Given the description of an element on the screen output the (x, y) to click on. 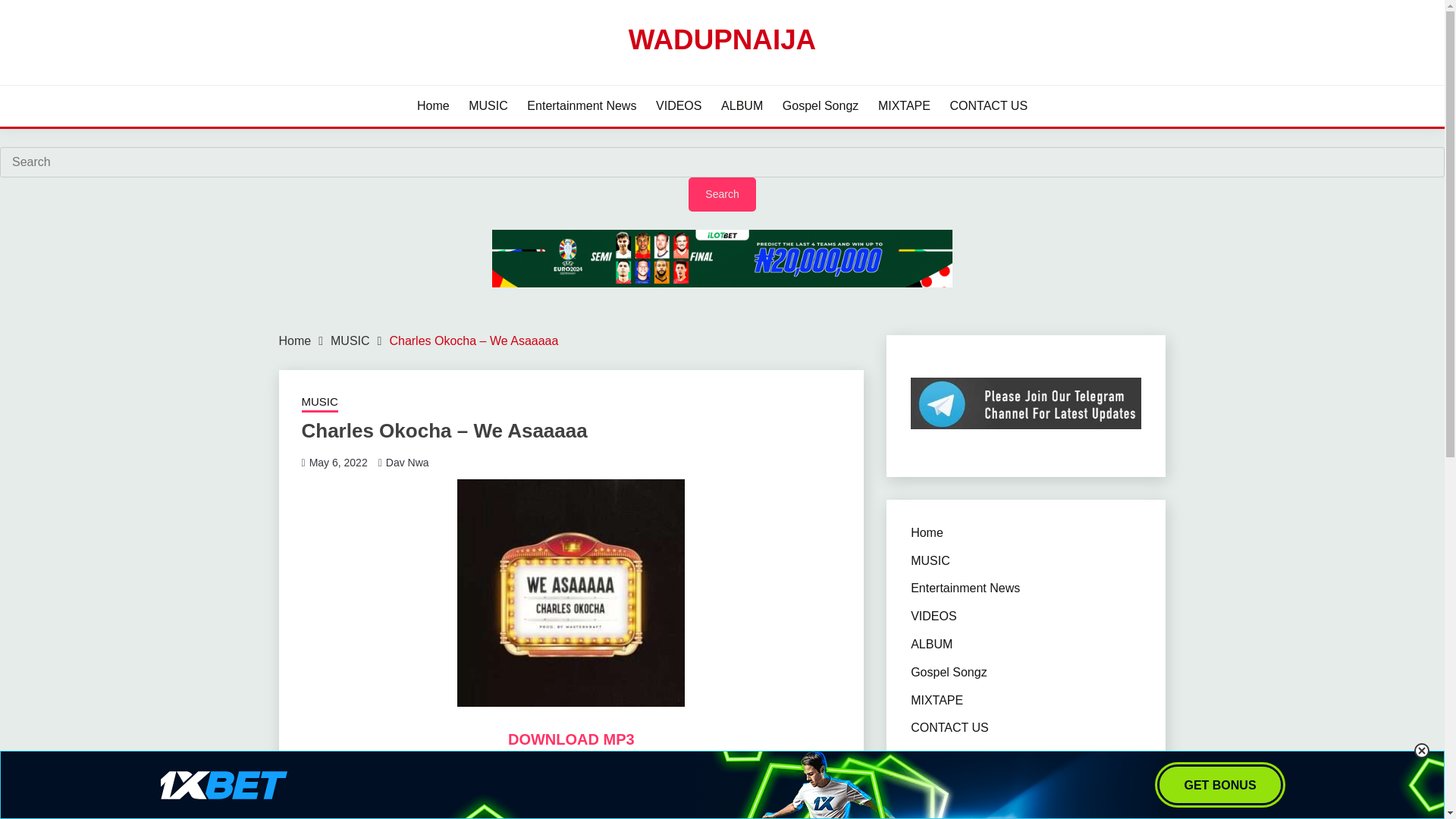
DOWNLOAD MP3 (571, 739)
ALBUM (741, 106)
Search (721, 194)
MIXTAPE (903, 106)
MUSIC (488, 106)
MIXTAPE (936, 699)
MUSIC (349, 340)
WADUPNAIJA (721, 39)
Gospel Songz (949, 671)
Home (295, 340)
MUSIC (319, 403)
Dav Nwa (407, 462)
Home (927, 532)
MUSIC (930, 560)
Entertainment News (965, 587)
